Given the description of an element on the screen output the (x, y) to click on. 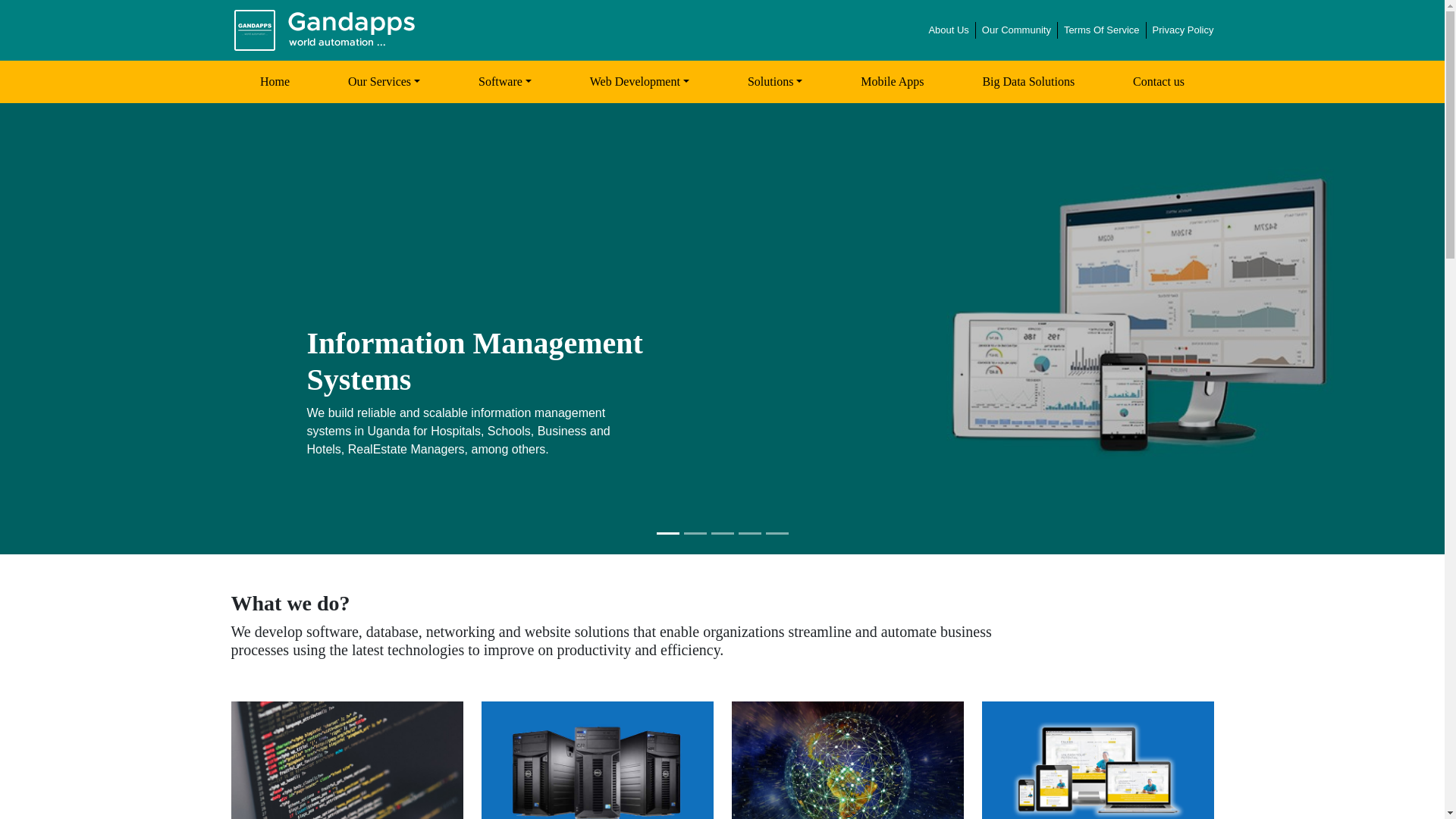
Our Community (1016, 29)
Big Data Solutions (1028, 81)
Terms Of Service (1102, 29)
Solutions (774, 81)
Home (274, 81)
Contact us (1158, 81)
About Us (948, 29)
Our Services (383, 81)
Privacy Policy (1183, 29)
Web Development (638, 81)
Mobile Apps (892, 81)
Software (504, 81)
